Given the description of an element on the screen output the (x, y) to click on. 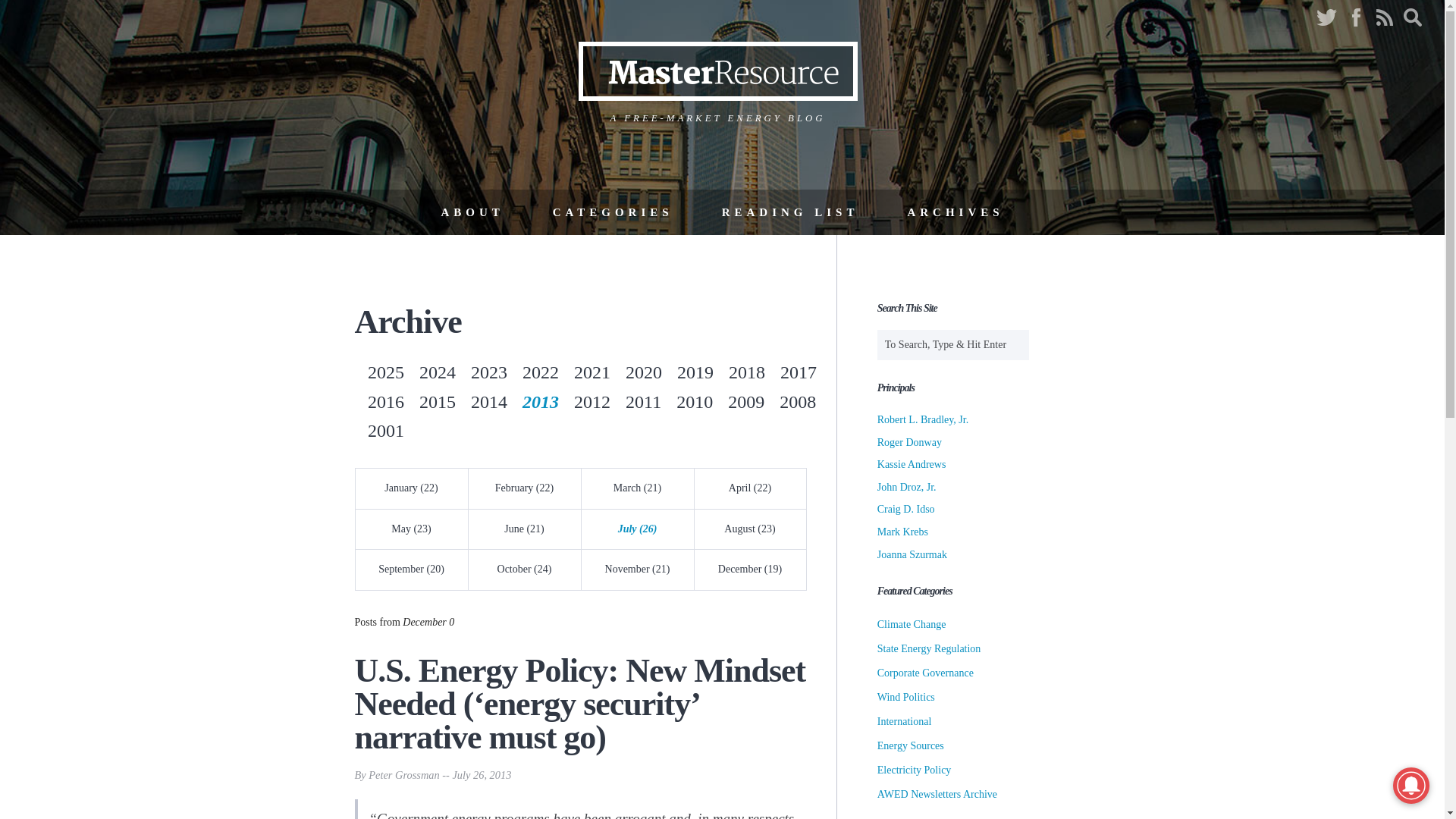
2025 (386, 372)
2023 (488, 372)
ABOUT (471, 212)
2013 (540, 401)
ARCHIVES (954, 212)
2024 (437, 372)
2018 (747, 372)
2017 (798, 372)
READING LIST (790, 212)
2020 (644, 372)
2008 (796, 401)
2014 (488, 401)
2001 (386, 430)
2019 (695, 372)
2011 (643, 401)
